Given the description of an element on the screen output the (x, y) to click on. 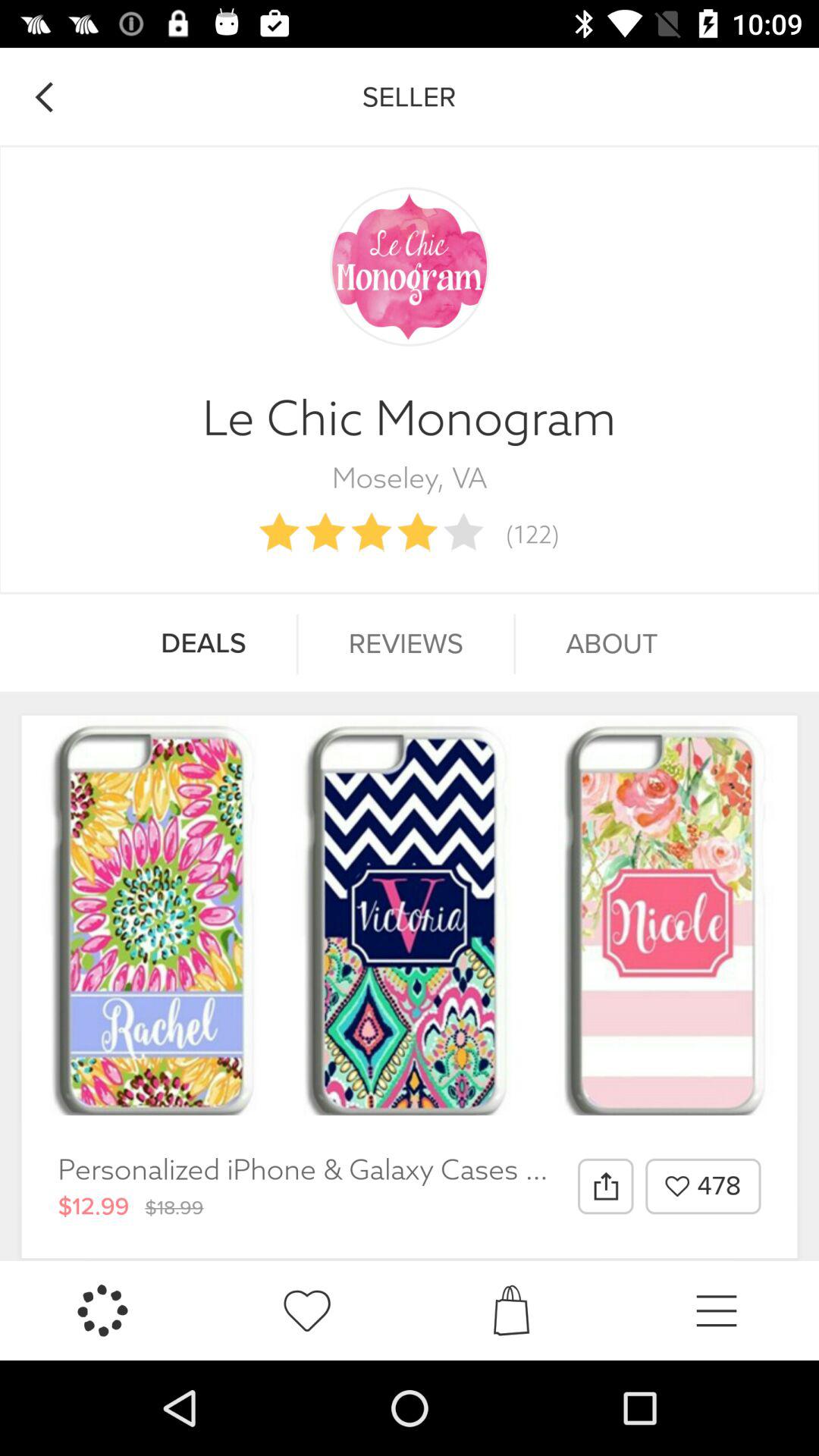
click item to the right of reviews (611, 643)
